Given the description of an element on the screen output the (x, y) to click on. 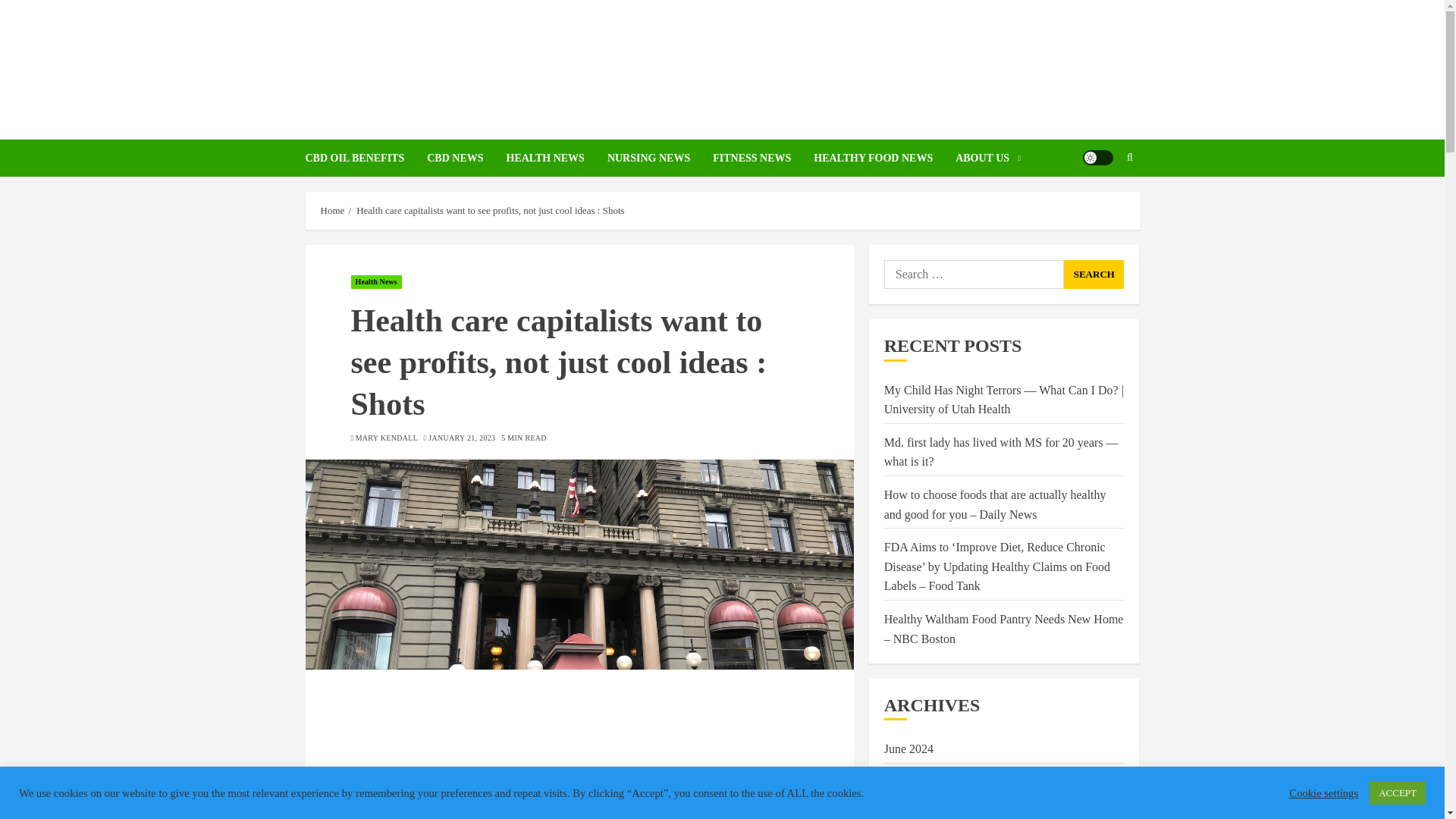
ABOUT US (987, 157)
JANUARY 21, 2023 (461, 438)
CBD OIL BENEFITS (365, 157)
HEALTHY FOOD NEWS (884, 157)
HEALTH NEWS (556, 157)
CBD NEWS (465, 157)
NURSING NEWS (660, 157)
Search (1099, 203)
FITNESS NEWS (763, 157)
Health News (375, 282)
MARY KENDALL (386, 438)
Search (1094, 274)
Home (331, 210)
CBD NEWS HUB (721, 59)
